Given the description of an element on the screen output the (x, y) to click on. 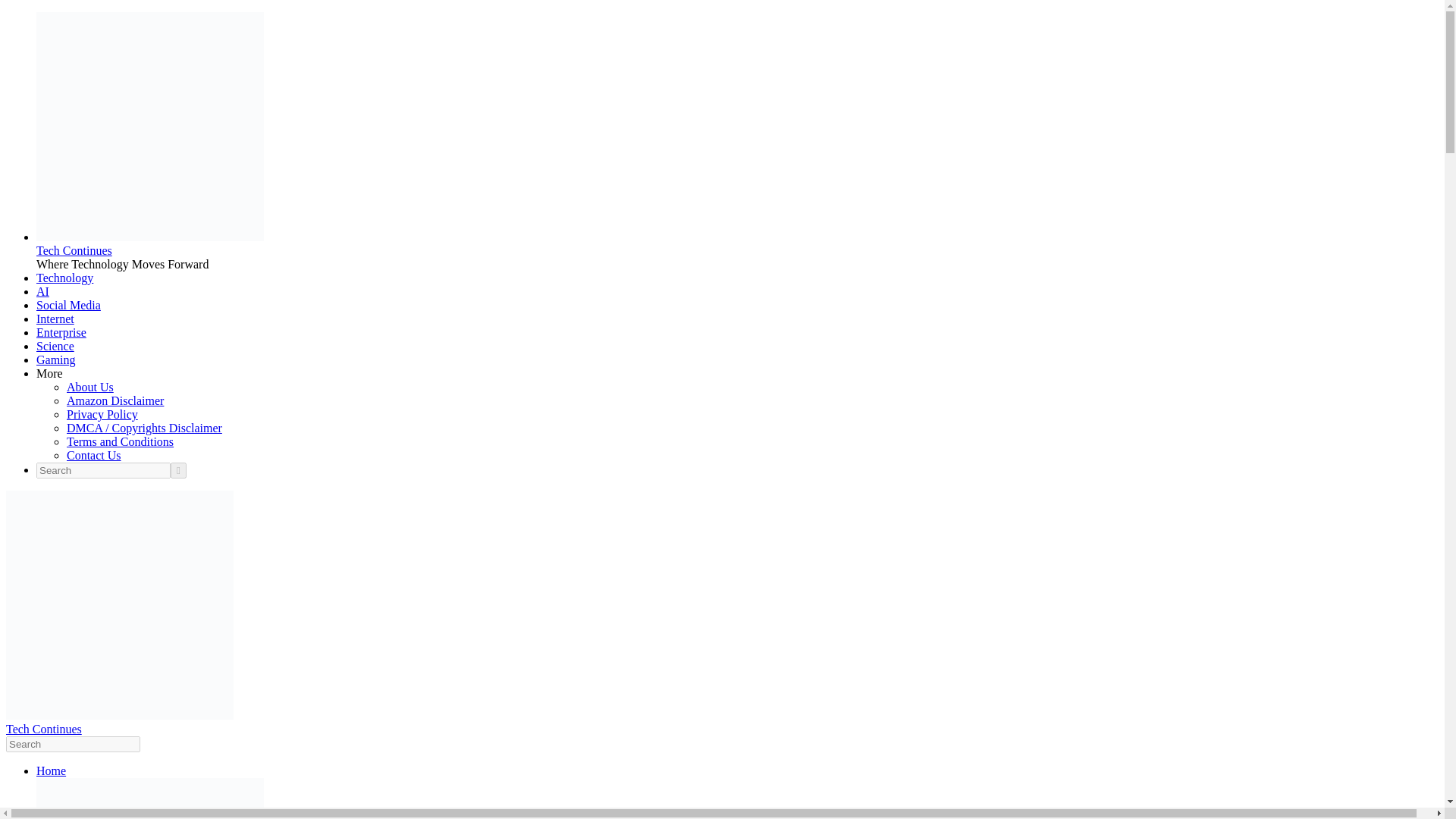
Internet (55, 318)
Home (50, 770)
Social Media (68, 305)
More (49, 373)
Terms and Conditions (119, 440)
Contact Us (93, 454)
About Us (89, 386)
Privacy Policy (102, 413)
Tech Continues (74, 250)
Science (55, 345)
Tech Continues (43, 728)
Amazon Disclaimer (114, 400)
AI (42, 291)
Technology (64, 277)
Gaming (55, 359)
